Given the description of an element on the screen output the (x, y) to click on. 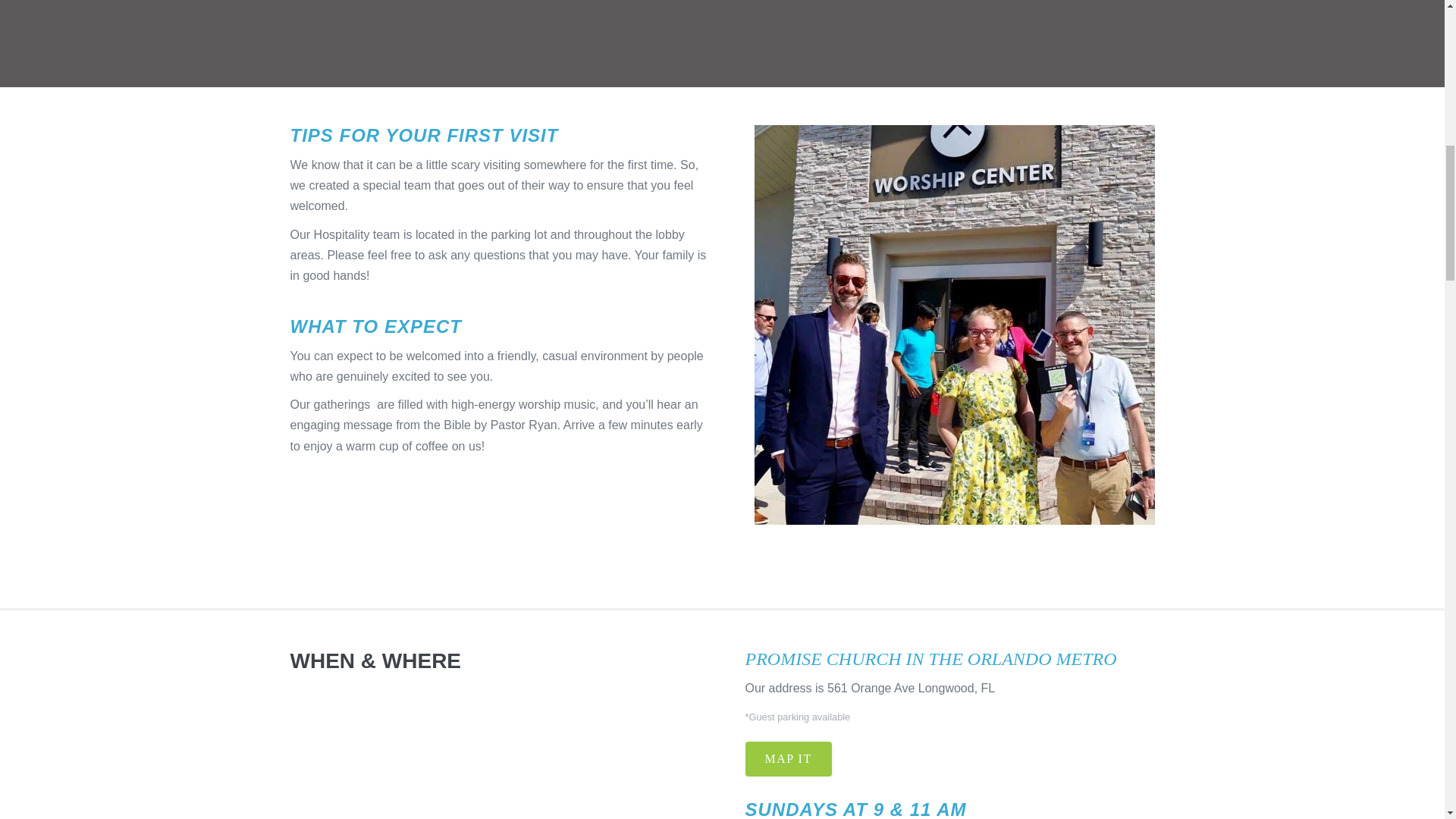
WHAT TO EXPECT (375, 326)
TIPS FOR YOUR FIRST VISIT (423, 135)
PROMISE CHURCH IN THE ORLANDO METRO (930, 659)
MAP IT (787, 759)
